Given the description of an element on the screen output the (x, y) to click on. 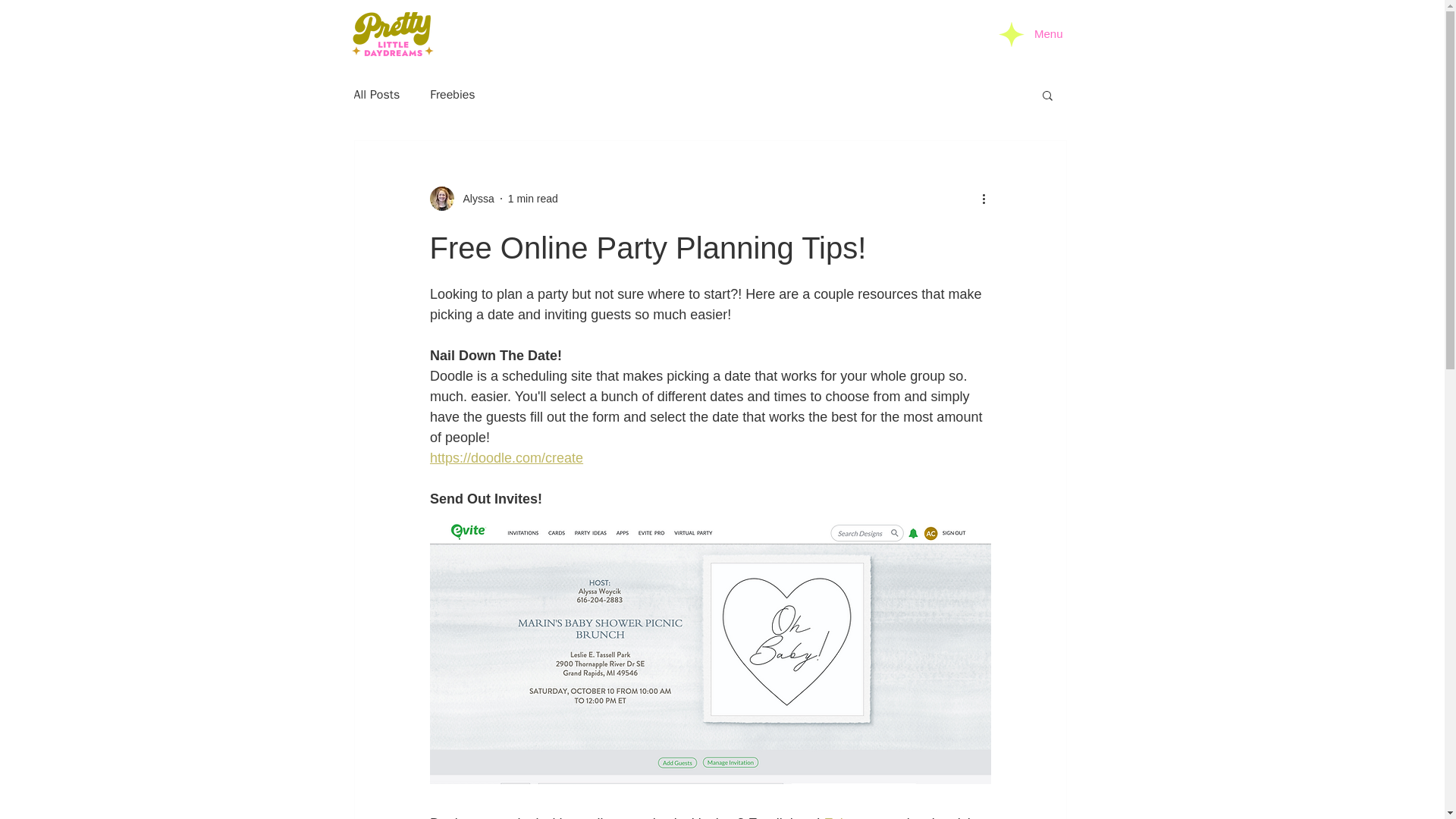
i (403, 39)
Evite.com (853, 817)
1 min read (532, 198)
Freebies (451, 94)
Alyssa (461, 198)
All Posts (375, 94)
Alyssa (472, 198)
